Given the description of an element on the screen output the (x, y) to click on. 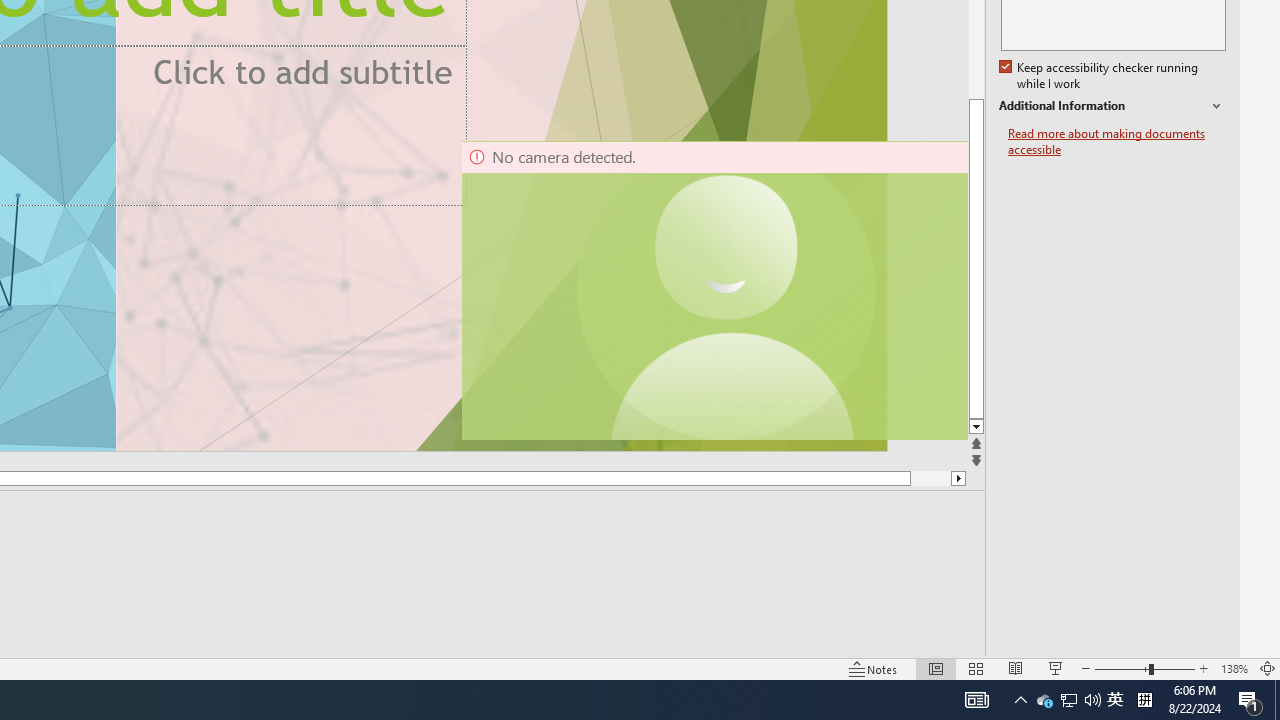
Camera 14, No camera detected. (713, 290)
Zoom 138% (1234, 668)
Camera 11, No camera detected. (727, 290)
